Given the description of an element on the screen output the (x, y) to click on. 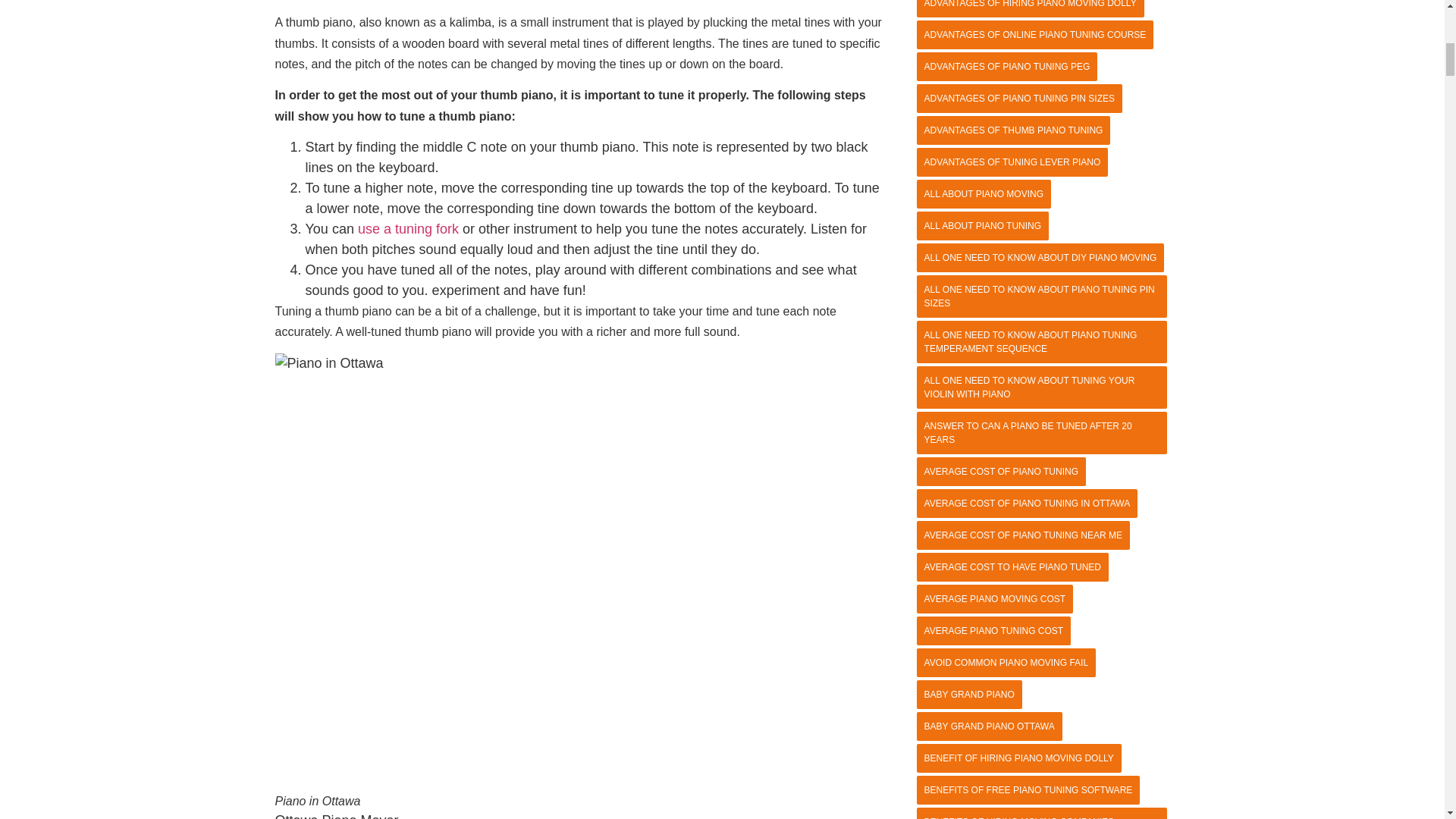
use a tuning fork (408, 228)
